Given the description of an element on the screen output the (x, y) to click on. 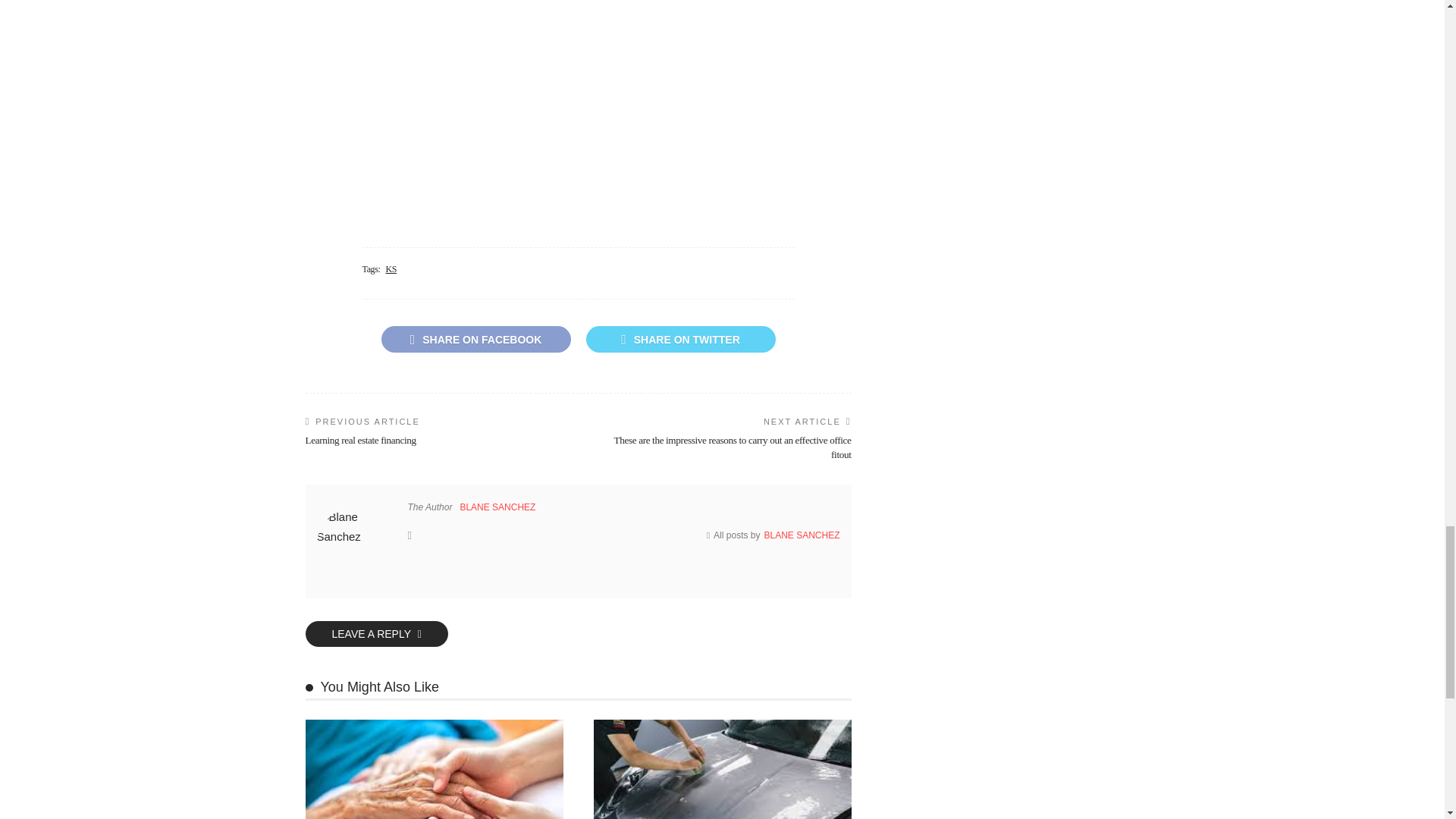
Learning real estate financing (359, 439)
Techniques  To Become a Top Floral Designer (578, 108)
